Given the description of an element on the screen output the (x, y) to click on. 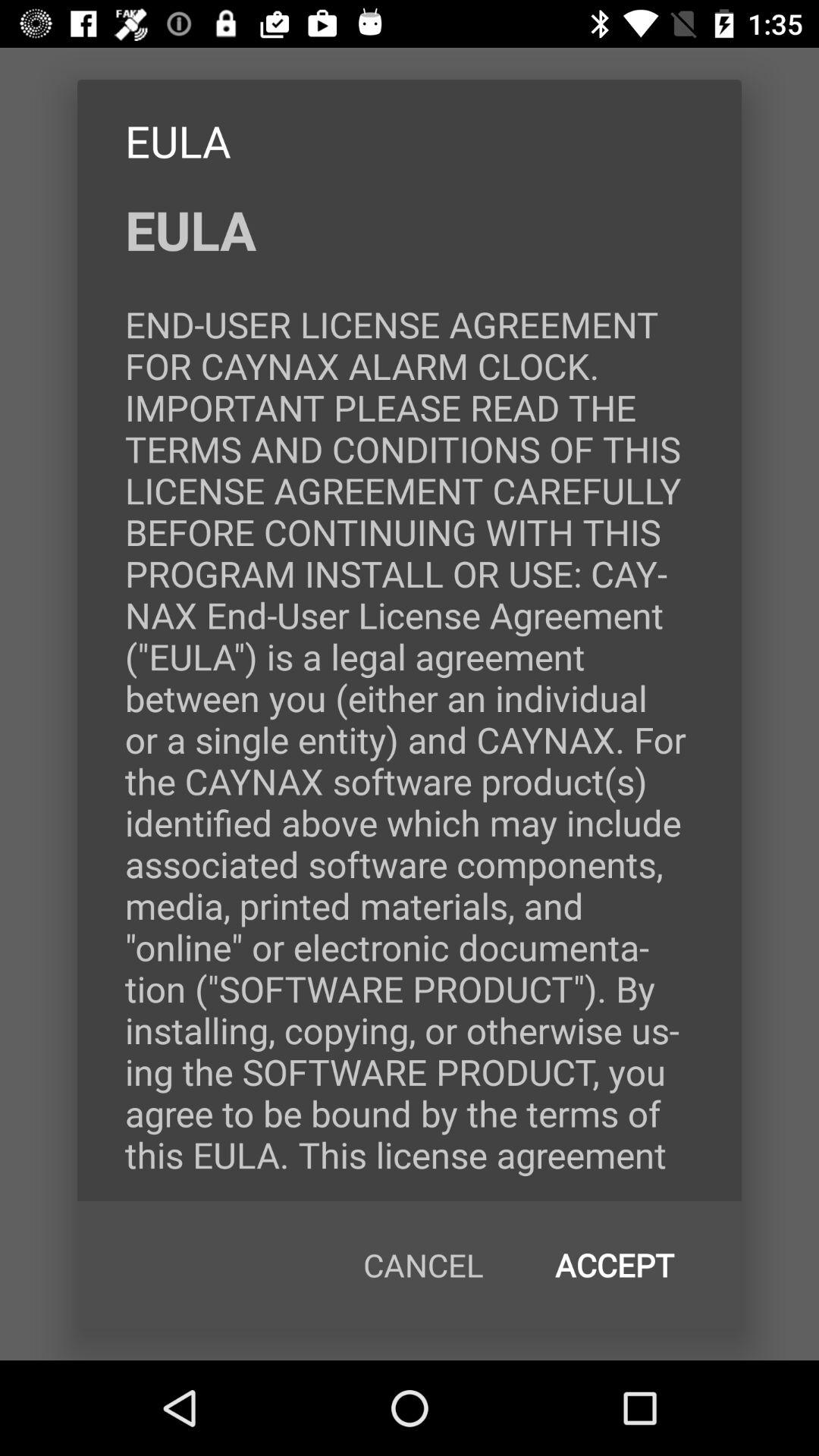
click accept (613, 1264)
